Given the description of an element on the screen output the (x, y) to click on. 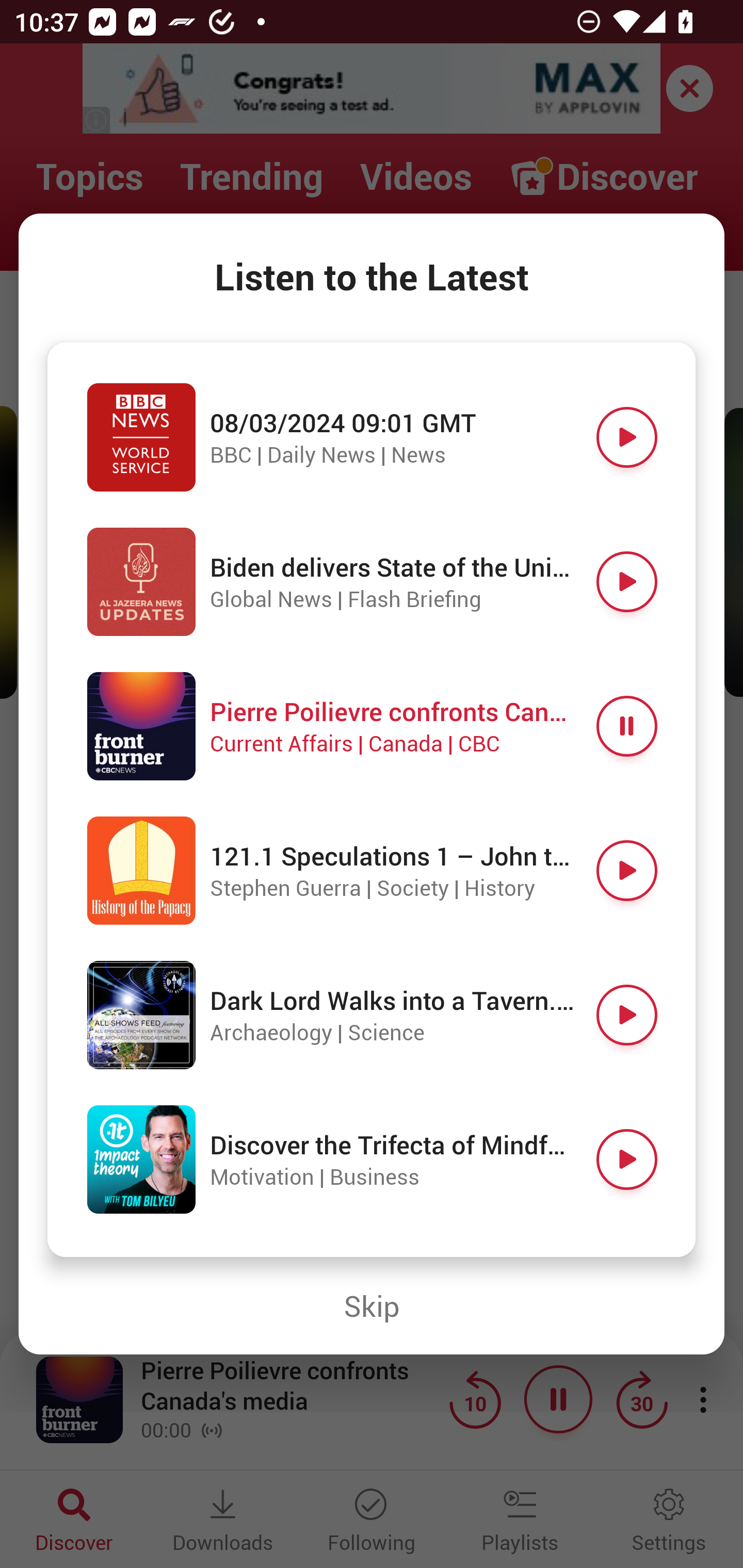
Skip (371, 1305)
